Given the description of an element on the screen output the (x, y) to click on. 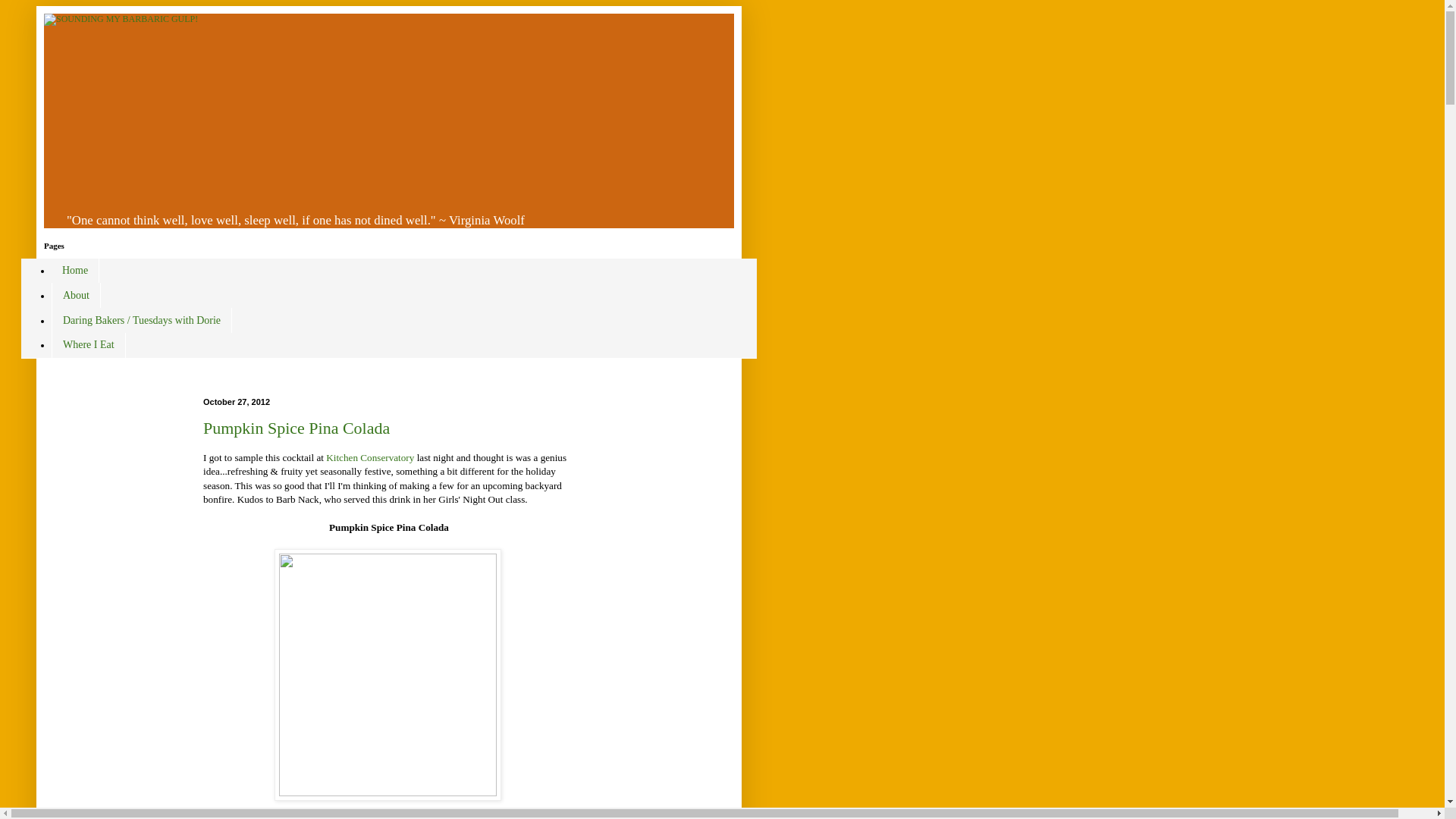
Home (74, 270)
About (75, 294)
Where I Eat (87, 344)
Pumpkin Spice Pina Colada (296, 427)
Kitchen Conservatory (369, 457)
